Given the description of an element on the screen output the (x, y) to click on. 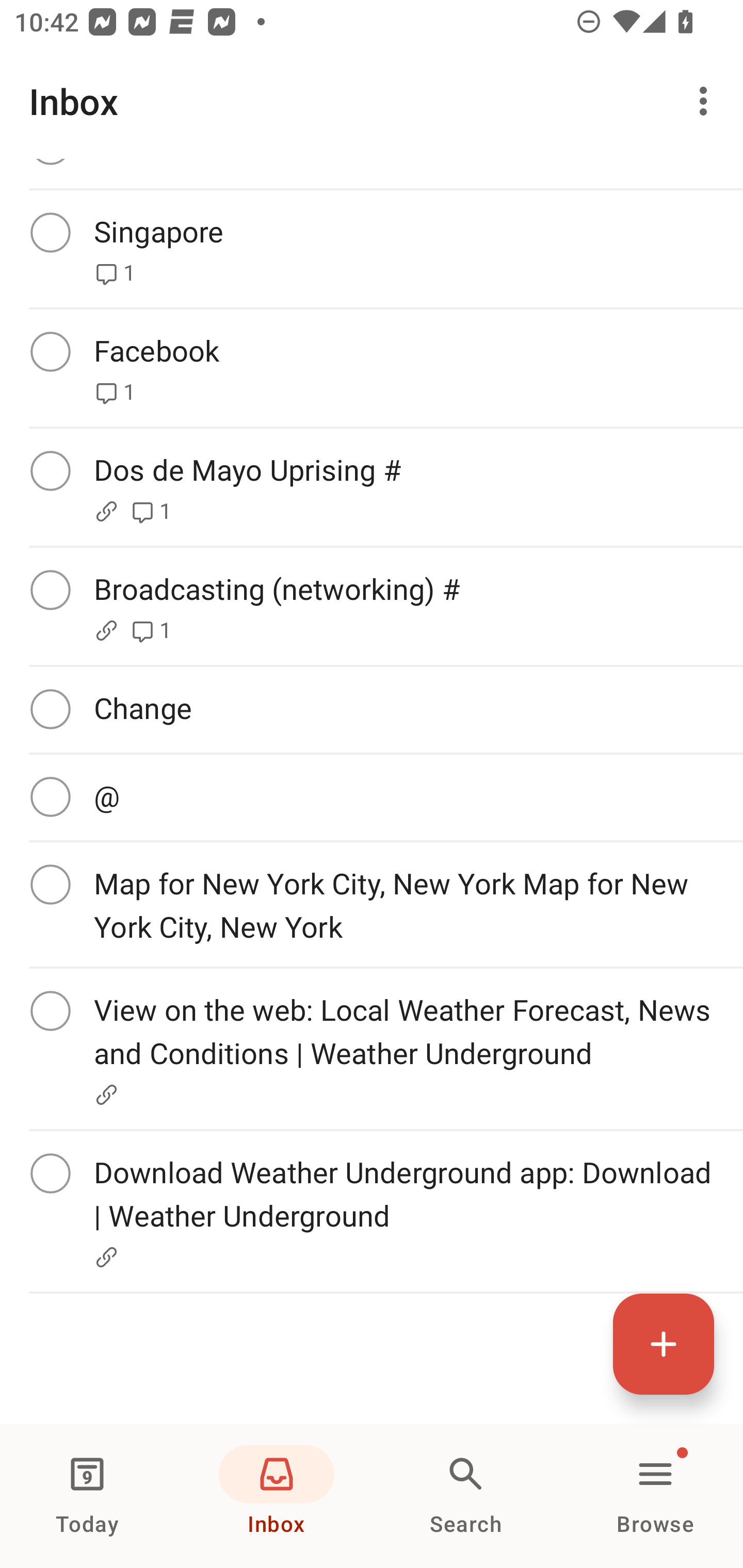
Inbox More options (371, 100)
More options (706, 101)
Complete Singapore 1 Comments (371, 248)
Complete (50, 231)
Complete Facebook 1 Comments (371, 367)
Complete (50, 351)
Complete (50, 470)
Complete (50, 589)
Complete Change (371, 709)
Complete (50, 708)
Complete @ (371, 797)
Complete (50, 796)
Complete (50, 884)
Complete (50, 1011)
Complete (50, 1172)
Quick add (663, 1343)
Today (87, 1495)
Search (465, 1495)
Browse (655, 1495)
